Given the description of an element on the screen output the (x, y) to click on. 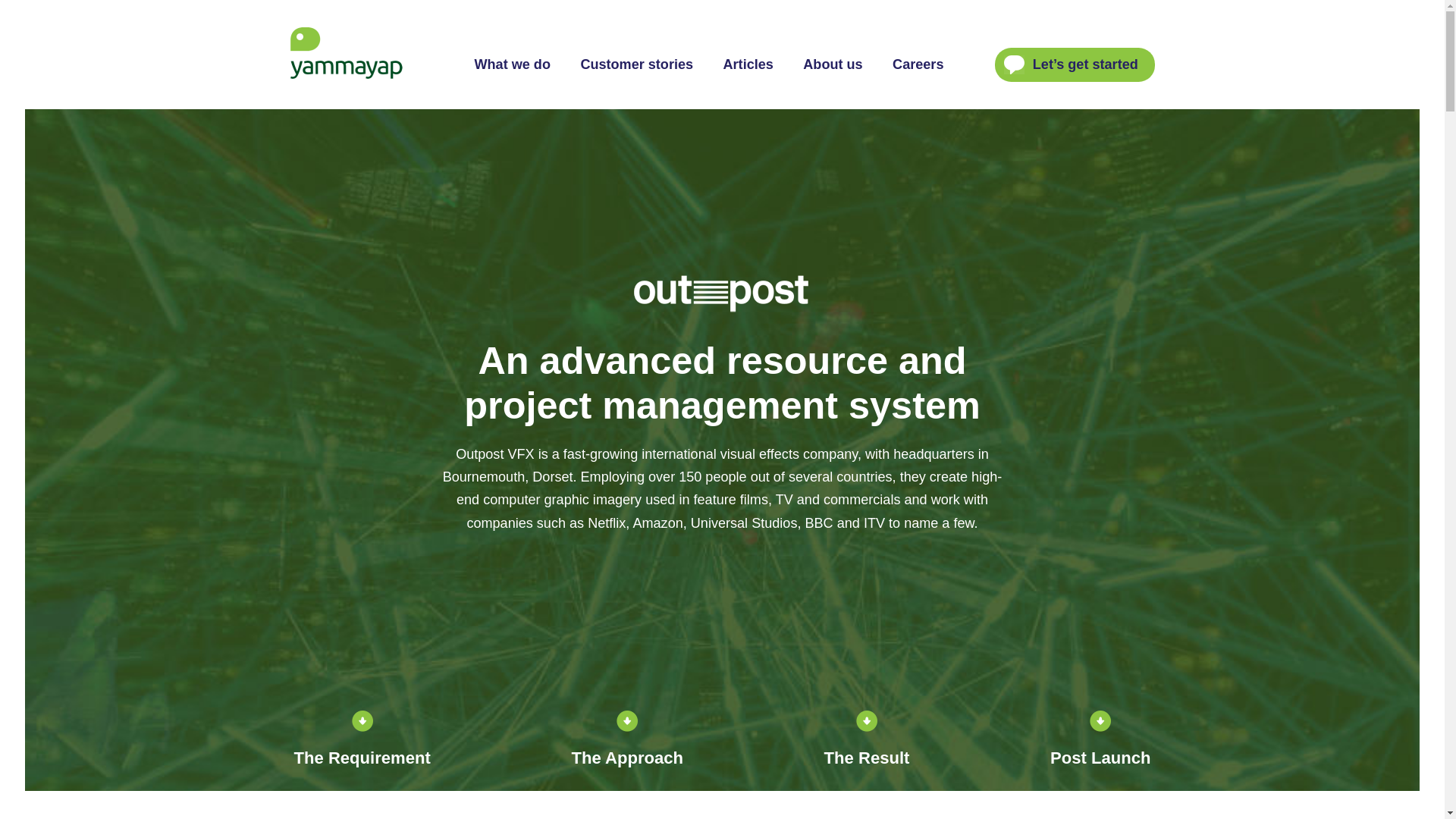
Path (1014, 63)
Customer stories (636, 64)
Post Launch (1099, 739)
The Approach (626, 739)
Careers (917, 64)
Careers (917, 64)
Post Launch (1099, 739)
About Yammayap (832, 64)
The Result (867, 739)
The Result (867, 739)
